Given the description of an element on the screen output the (x, y) to click on. 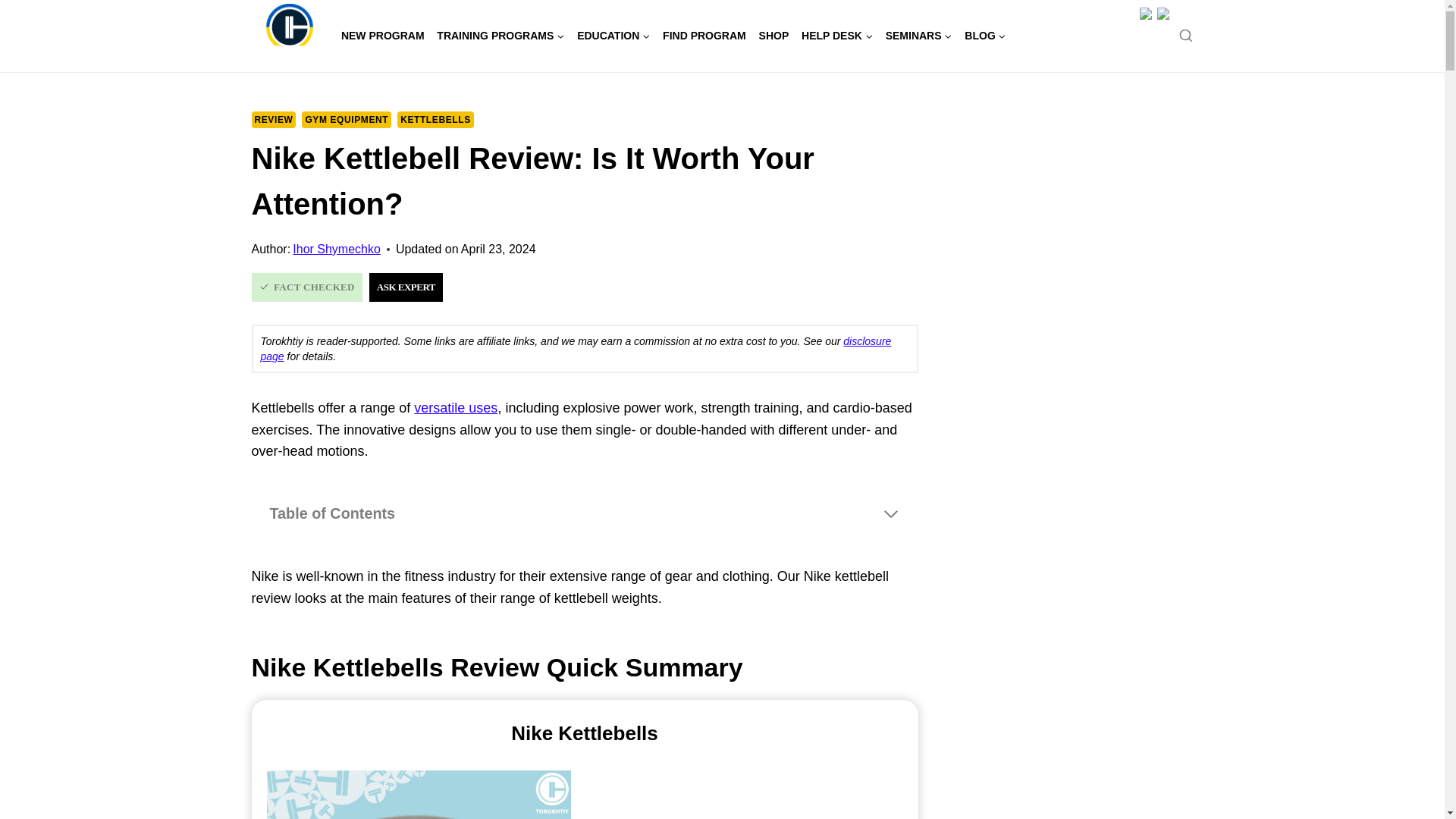
EDUCATION (613, 35)
BLOG (984, 35)
TRAINING PROGRAMS (500, 35)
SHOP (773, 35)
HELP DESK (836, 35)
SEMINARS (918, 35)
FIND PROGRAM (704, 35)
NEW PROGRAM (382, 35)
